Given the description of an element on the screen output the (x, y) to click on. 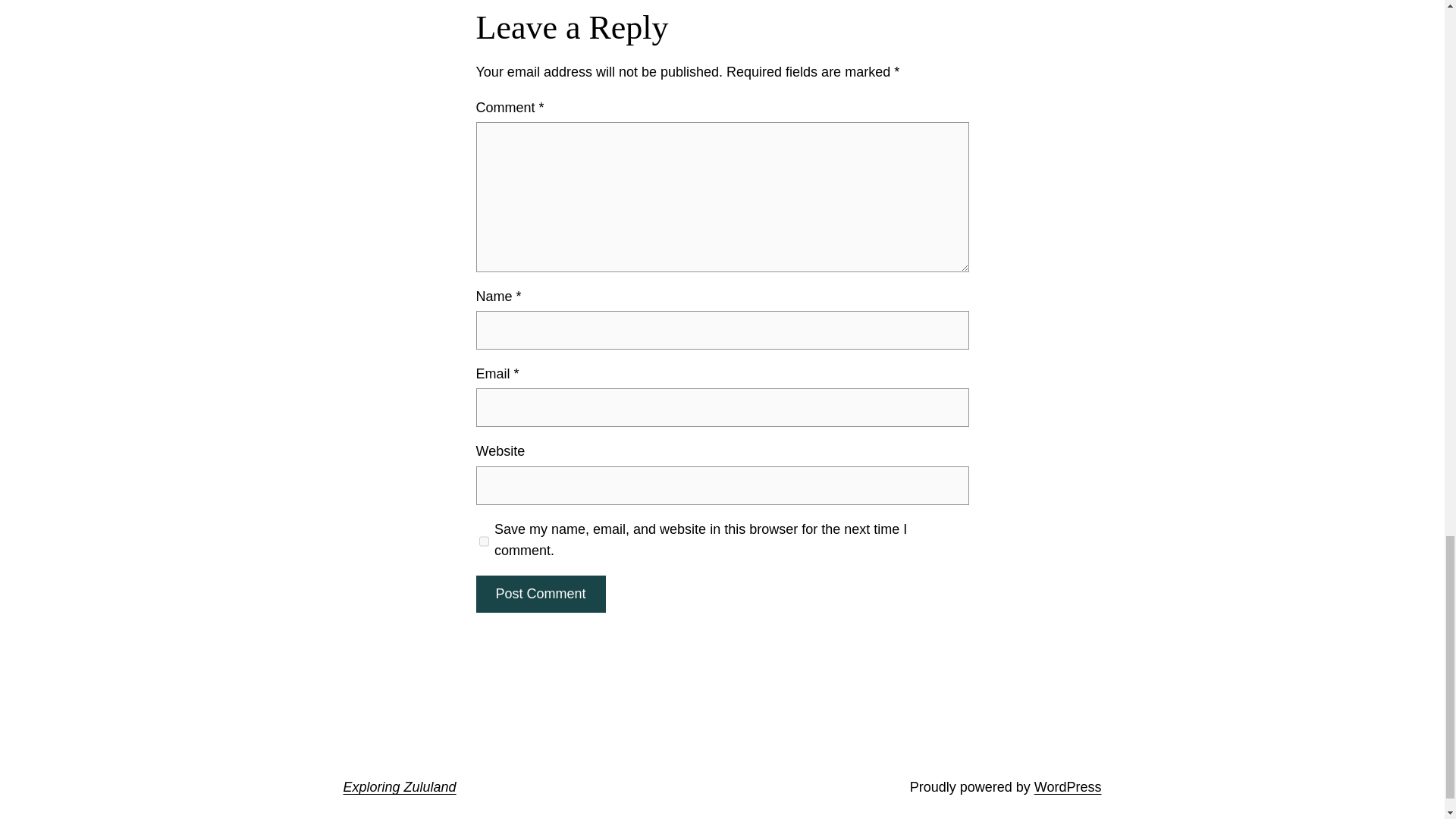
Exploring Zululand (398, 786)
WordPress (1067, 786)
Post Comment (540, 593)
Post Comment (540, 593)
